Given the description of an element on the screen output the (x, y) to click on. 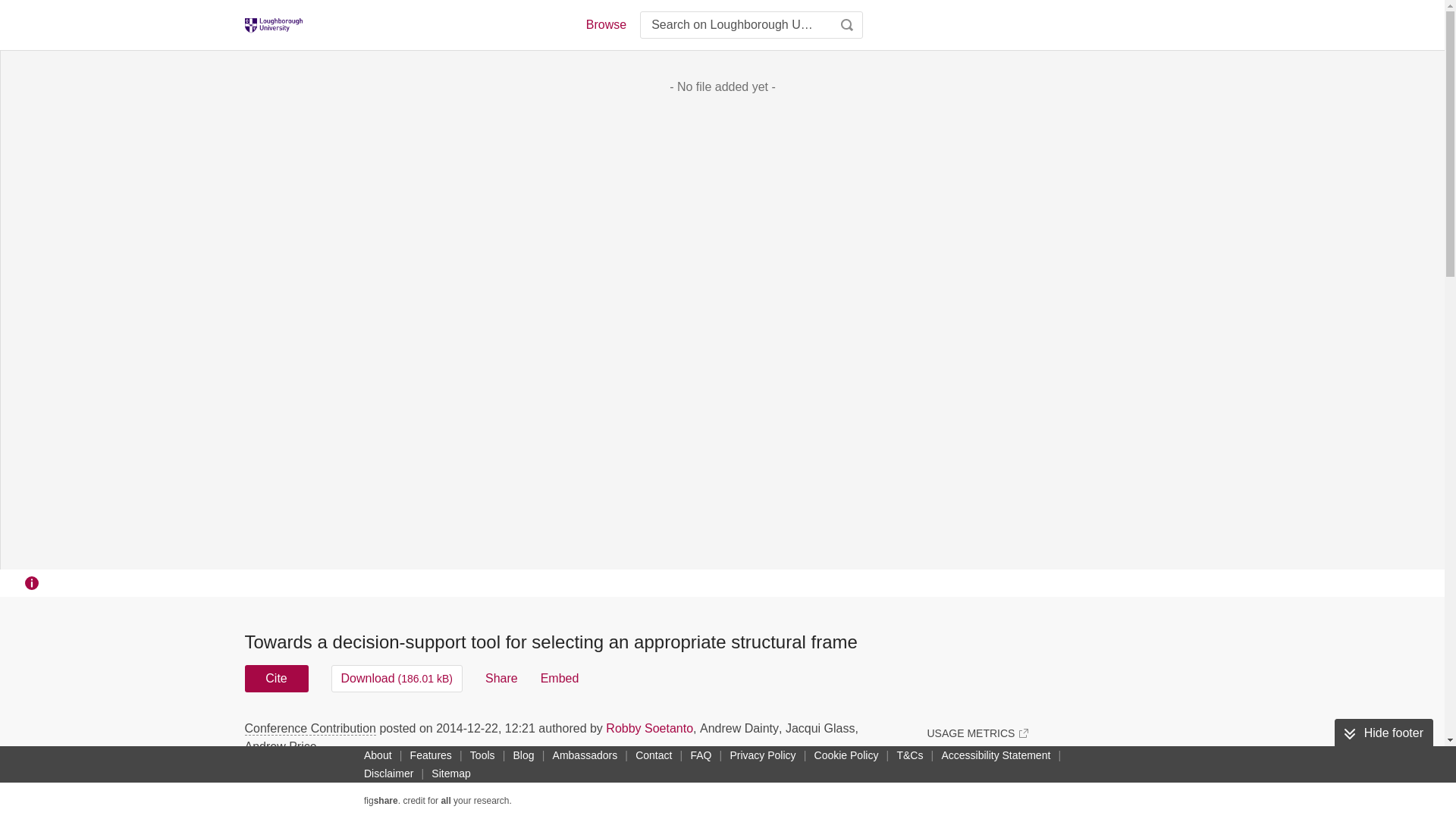
Browse (605, 24)
Share (501, 678)
Hide footer (1383, 733)
Robby Soetanto (649, 727)
USAGE METRICS (976, 732)
Cite (275, 678)
Privacy Policy (762, 755)
Ambassadors (585, 755)
Accessibility Statement (995, 755)
Cookie Policy (846, 755)
Blog (523, 755)
About (377, 755)
Contact (653, 755)
Tools (482, 755)
Embed (559, 678)
